Given the description of an element on the screen output the (x, y) to click on. 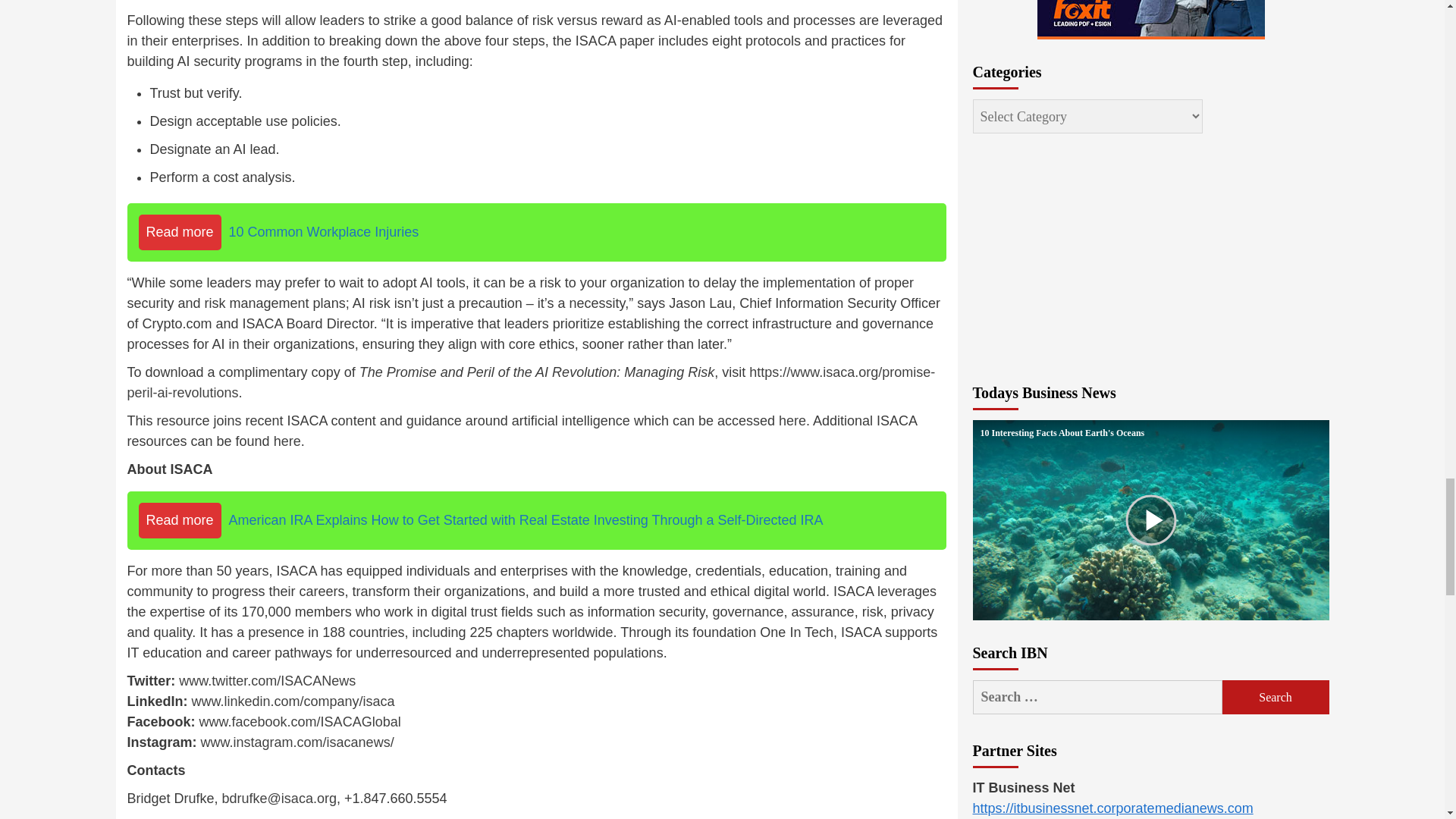
Read more10 Common Workplace Injuries (537, 232)
here (792, 420)
here (287, 441)
